Given the description of an element on the screen output the (x, y) to click on. 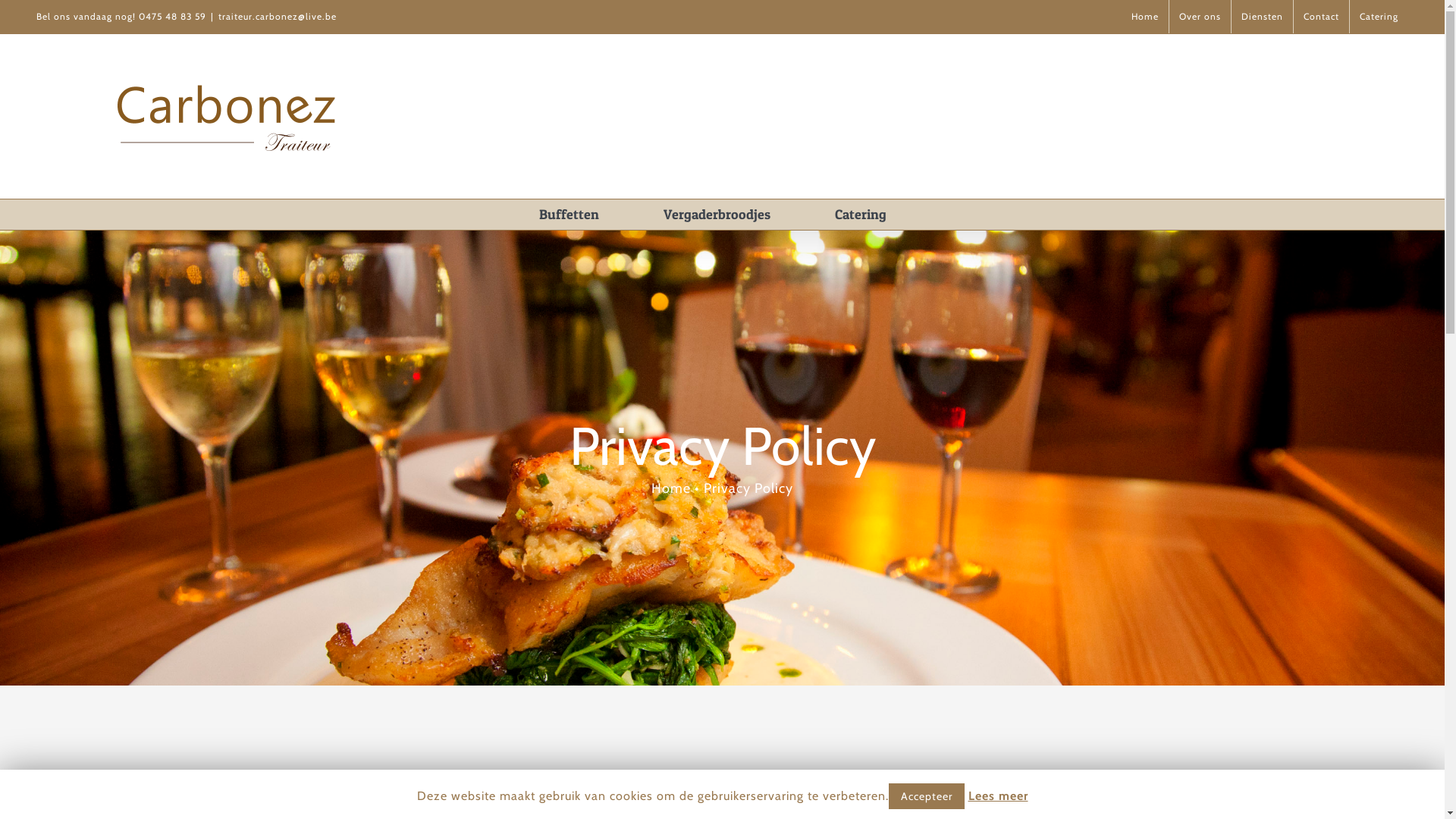
Catering Element type: text (1378, 16)
Home Element type: text (1144, 16)
Vergaderbroodjes Element type: text (716, 214)
Diensten Element type: text (1261, 16)
traiteur.carbonez@live.be Element type: text (277, 15)
Lees meer Element type: text (997, 796)
Accepteer Element type: text (926, 796)
Over ons Element type: text (1199, 16)
Buffetten Element type: text (568, 214)
Home Element type: text (670, 488)
Contact Element type: text (1321, 16)
Catering Element type: text (860, 214)
